Given the description of an element on the screen output the (x, y) to click on. 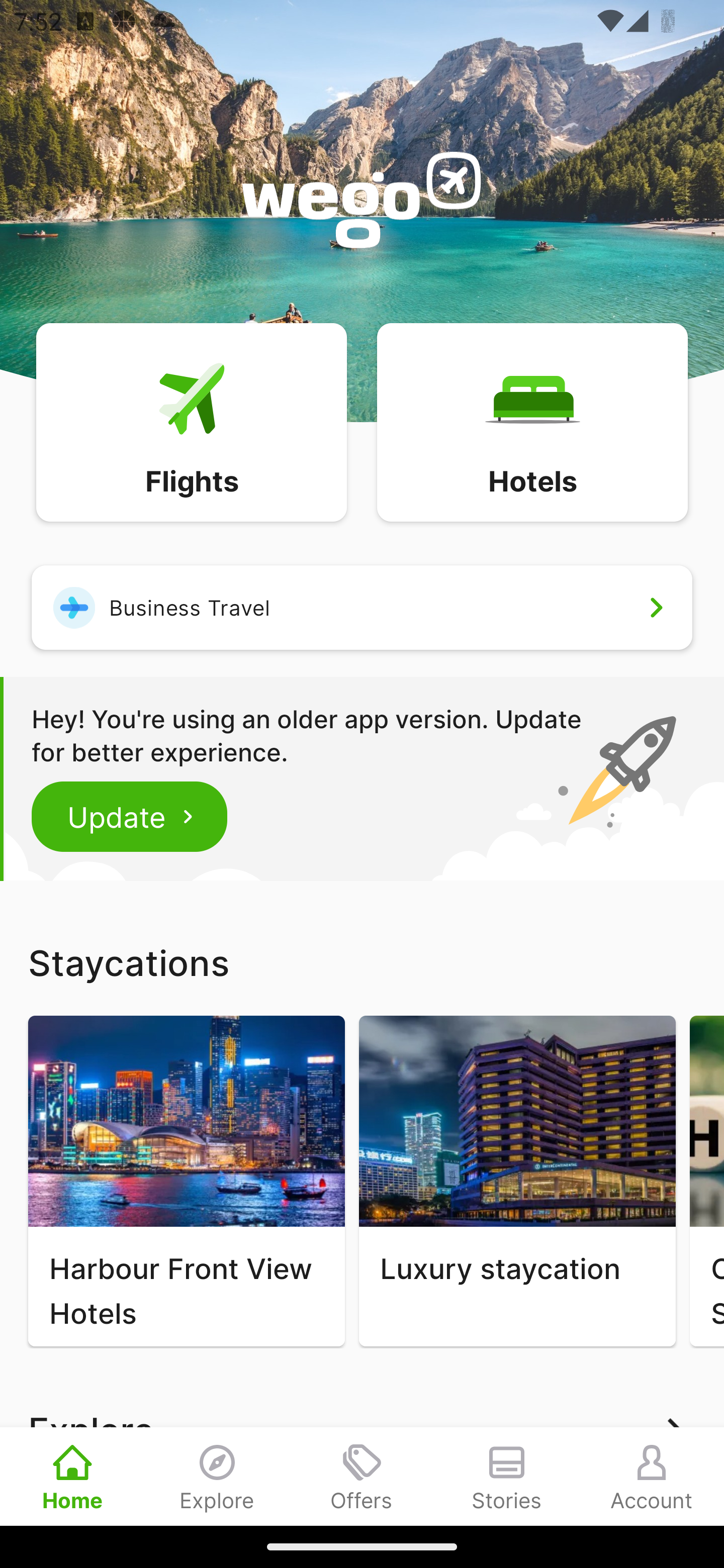
Flights (191, 420)
Hotels (532, 420)
Business Travel (361, 607)
Update (129, 815)
Staycations (362, 962)
Harbour Front View Hotels (186, 1181)
Luxury staycation (517, 1181)
Explore (216, 1475)
Offers (361, 1475)
Stories (506, 1475)
Account (651, 1475)
